Given the description of an element on the screen output the (x, y) to click on. 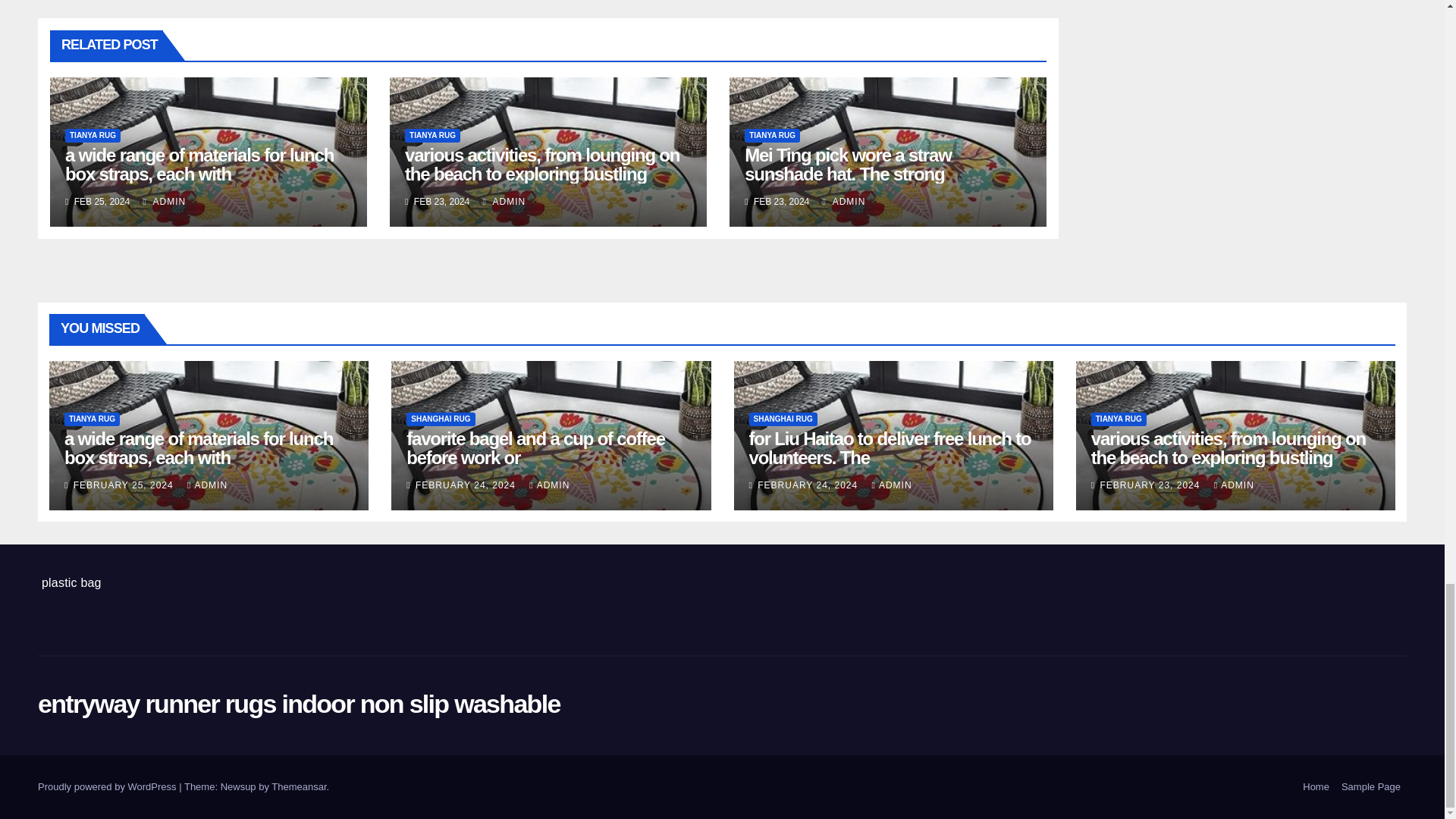
TIANYA RUG (432, 135)
Home (1316, 786)
a wide range of materials for lunch box straps, each with (199, 164)
TIANYA RUG (771, 135)
Mei Ting pick wore a straw sunshade hat. The strong (847, 164)
ADMIN (504, 201)
ADMIN (164, 201)
TIANYA RUG (92, 135)
